Given the description of an element on the screen output the (x, y) to click on. 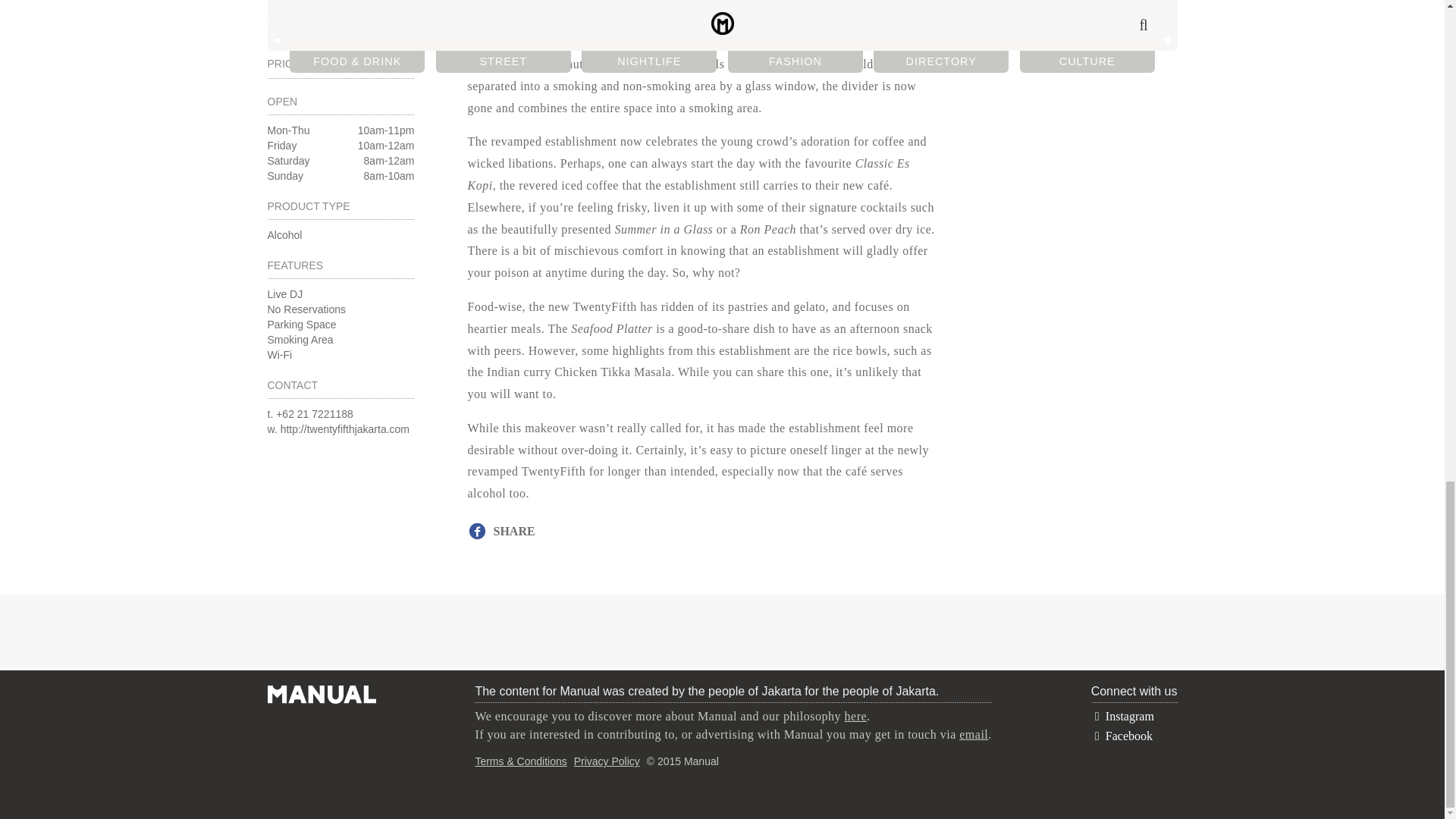
Facebook (1121, 735)
Alcohol (283, 234)
Parking Space (301, 324)
No Reservations (306, 309)
Instagram (1122, 716)
Email Us (973, 734)
Call TwentyFifth (314, 413)
Read our Terms and Conditions (339, 25)
TwentyFifth (520, 761)
Privacy Policy (339, 1)
Smoking Area (606, 761)
Share on Facebook (299, 339)
Wi-Fi (504, 530)
email (279, 354)
